Given the description of an element on the screen output the (x, y) to click on. 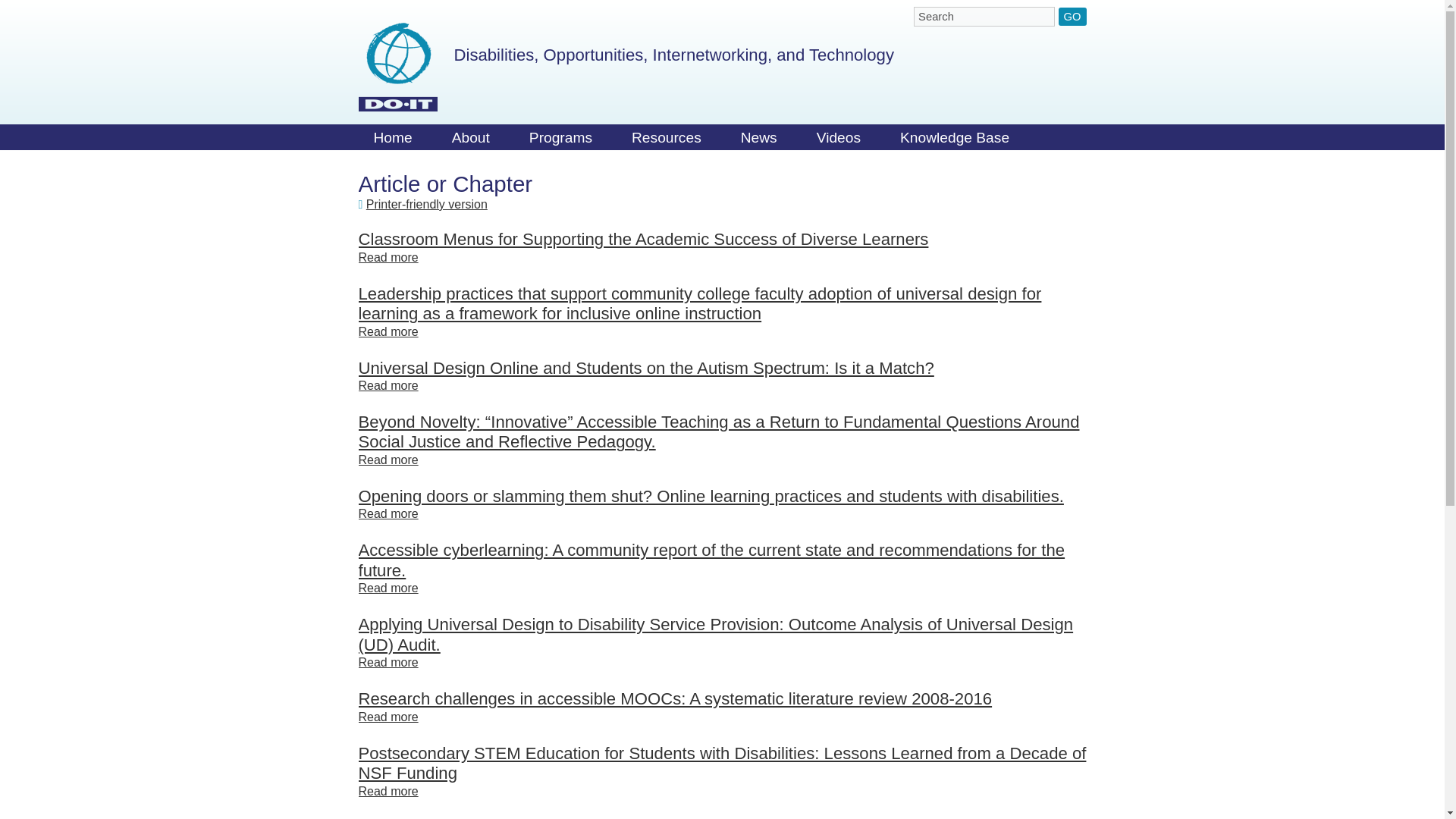
Go (1072, 16)
News (758, 140)
Videos (839, 140)
Enter the terms you wish to search for. (984, 16)
Home (392, 140)
Home (397, 66)
